Given the description of an element on the screen output the (x, y) to click on. 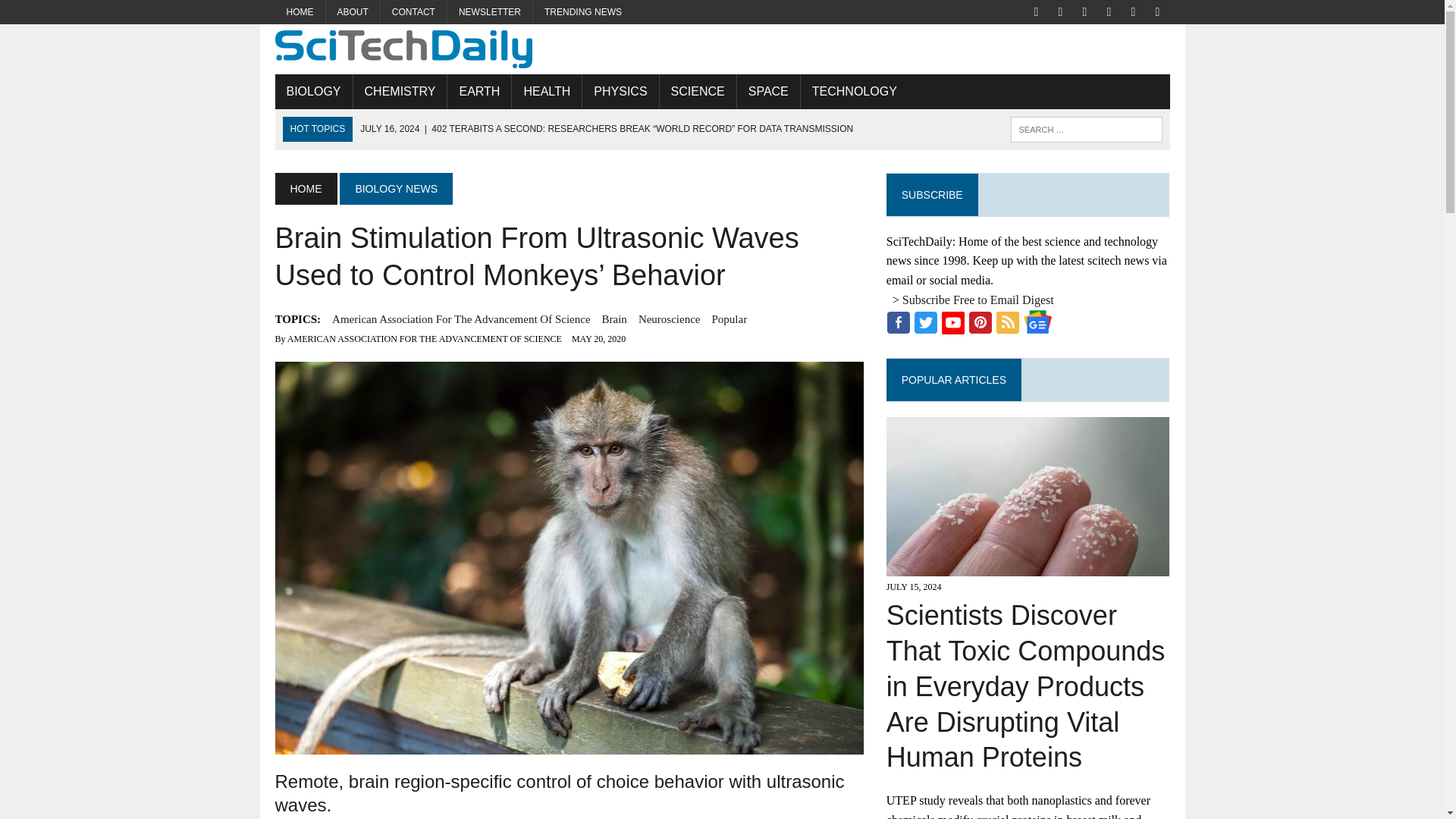
About SciTechDaily (353, 12)
SPACE (767, 91)
NEWSLETTER (489, 12)
SciTechDaily (722, 48)
TRENDING NEWS (582, 12)
SCIENCE (697, 91)
Brain (614, 319)
BIOLOGY NEWS (395, 188)
TECHNOLOGY (854, 91)
SciTechDaily Newsletter (489, 12)
Contact SciTechDaily.com (413, 12)
BIOLOGY (313, 91)
CHEMISTRY (399, 91)
HEALTH (546, 91)
Neuroscience (669, 319)
